Given the description of an element on the screen output the (x, y) to click on. 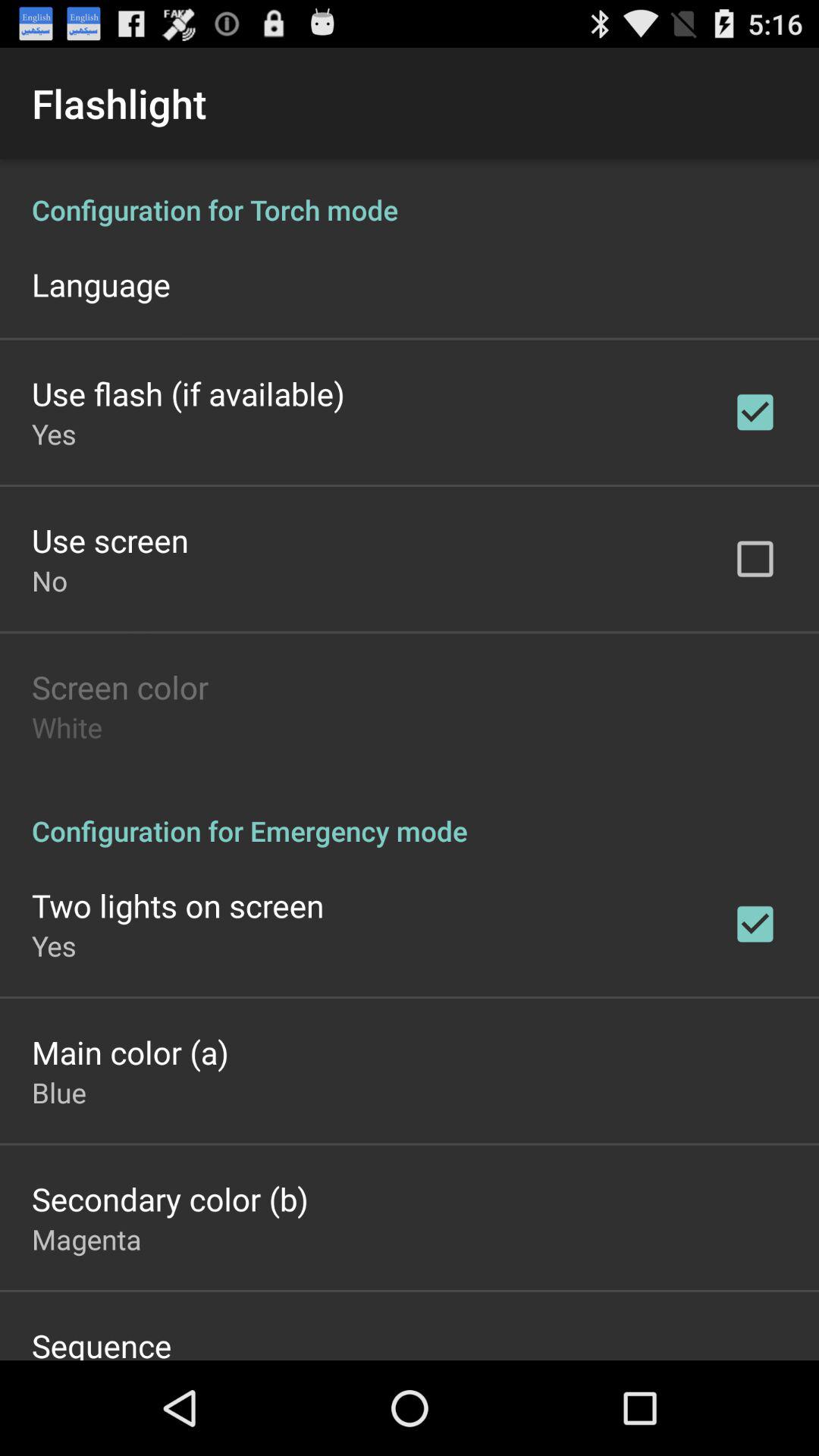
turn on app above yes app (187, 393)
